Given the description of an element on the screen output the (x, y) to click on. 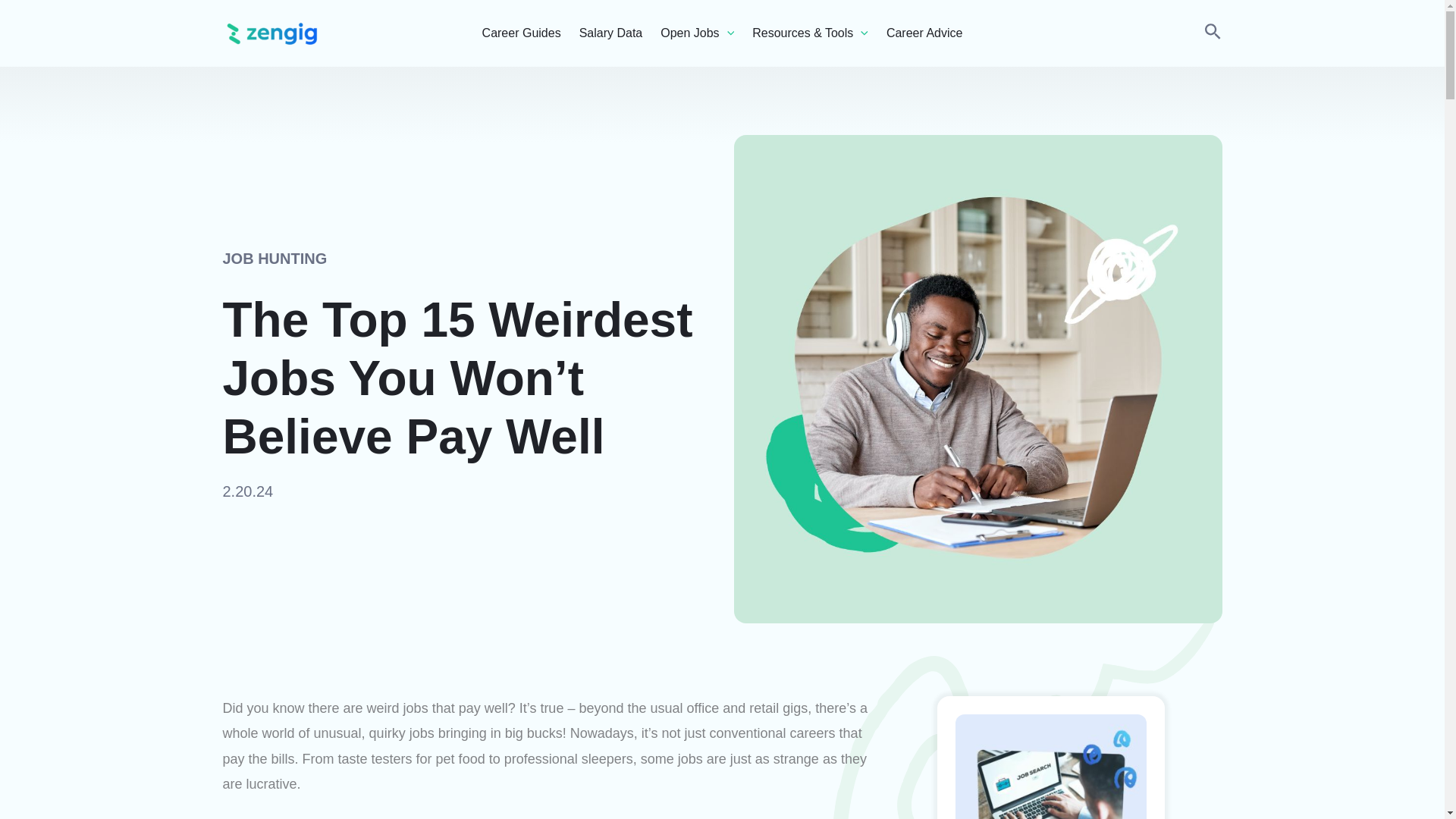
Open Jobs (697, 33)
Career Advice (924, 33)
Career Guides (520, 33)
Search (1212, 33)
Salary Data (611, 33)
